Given the description of an element on the screen output the (x, y) to click on. 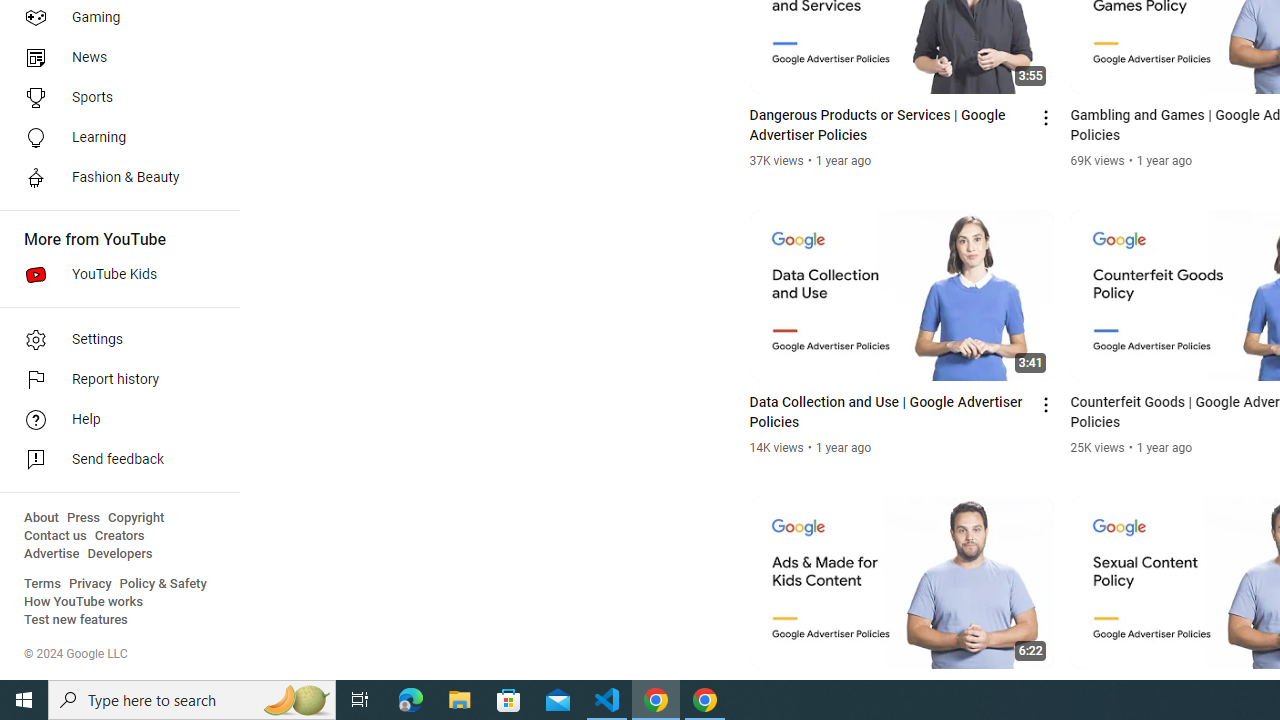
Creators (118, 536)
Fashion & Beauty (113, 177)
YouTube Kids (113, 274)
Sports (113, 97)
Report history (113, 380)
Learning (113, 137)
